Given the description of an element on the screen output the (x, y) to click on. 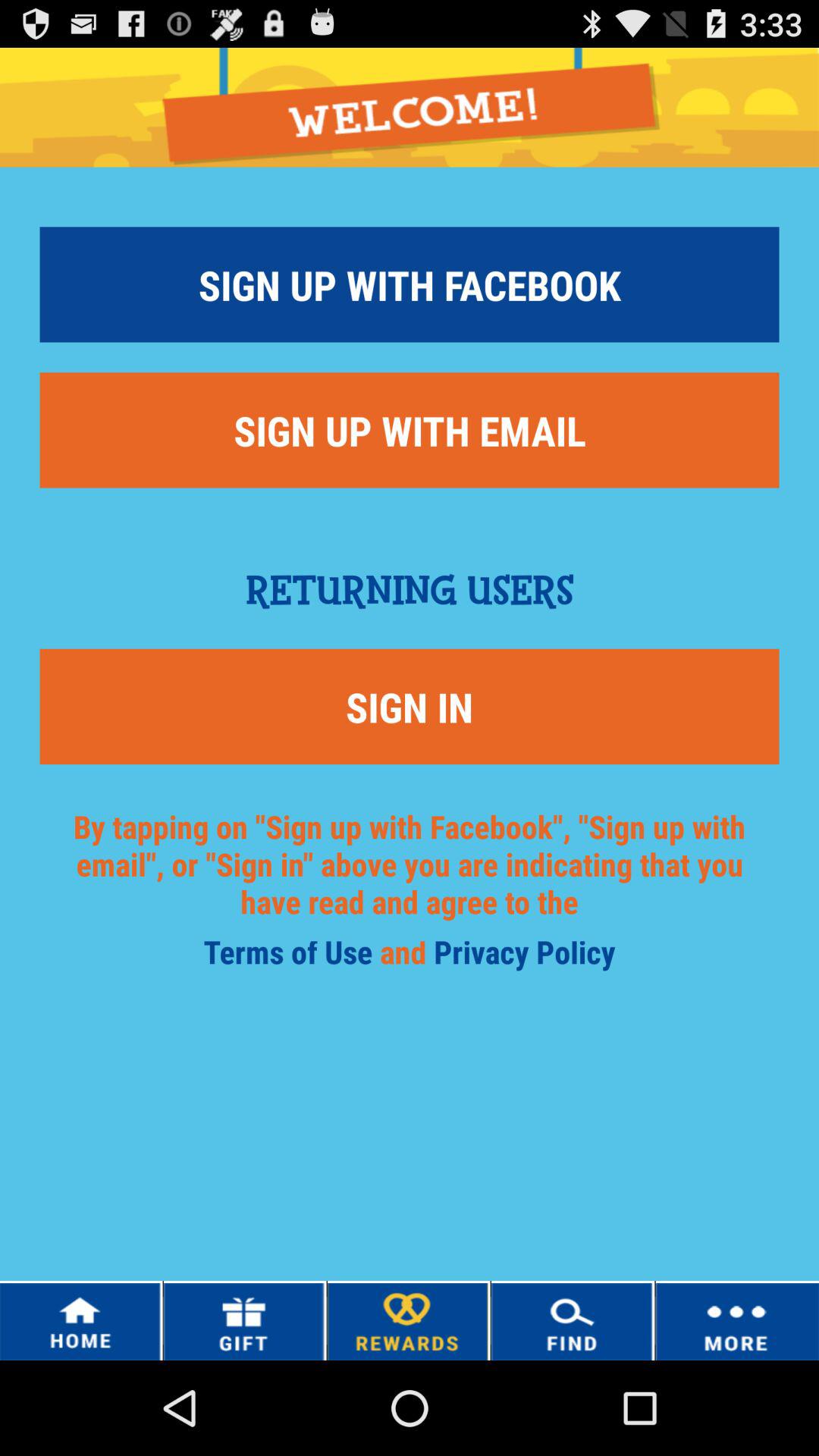
tap by tapping on item (409, 882)
